Given the description of an element on the screen output the (x, y) to click on. 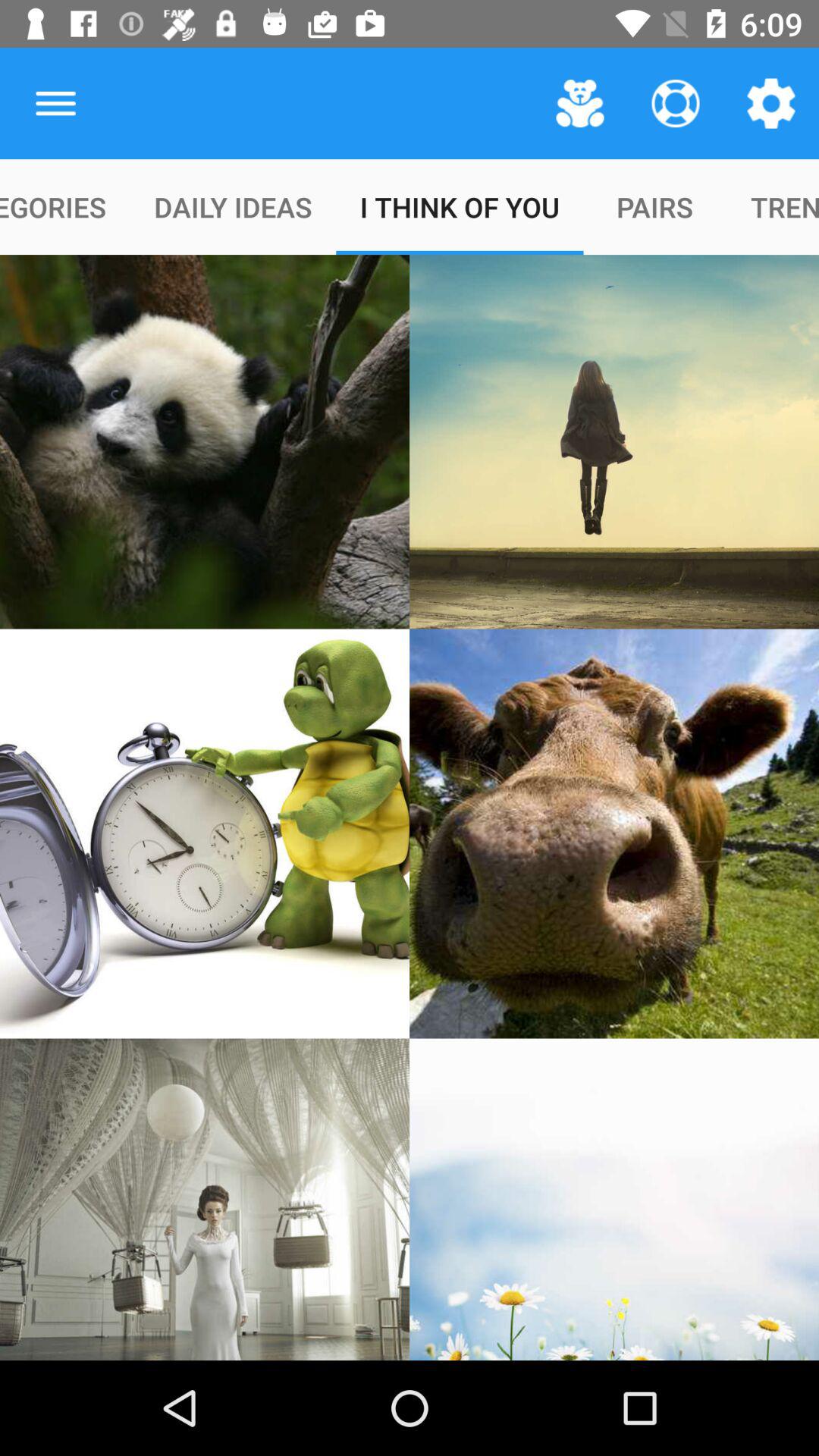
click on last image on right (614, 1199)
